Given the description of an element on the screen output the (x, y) to click on. 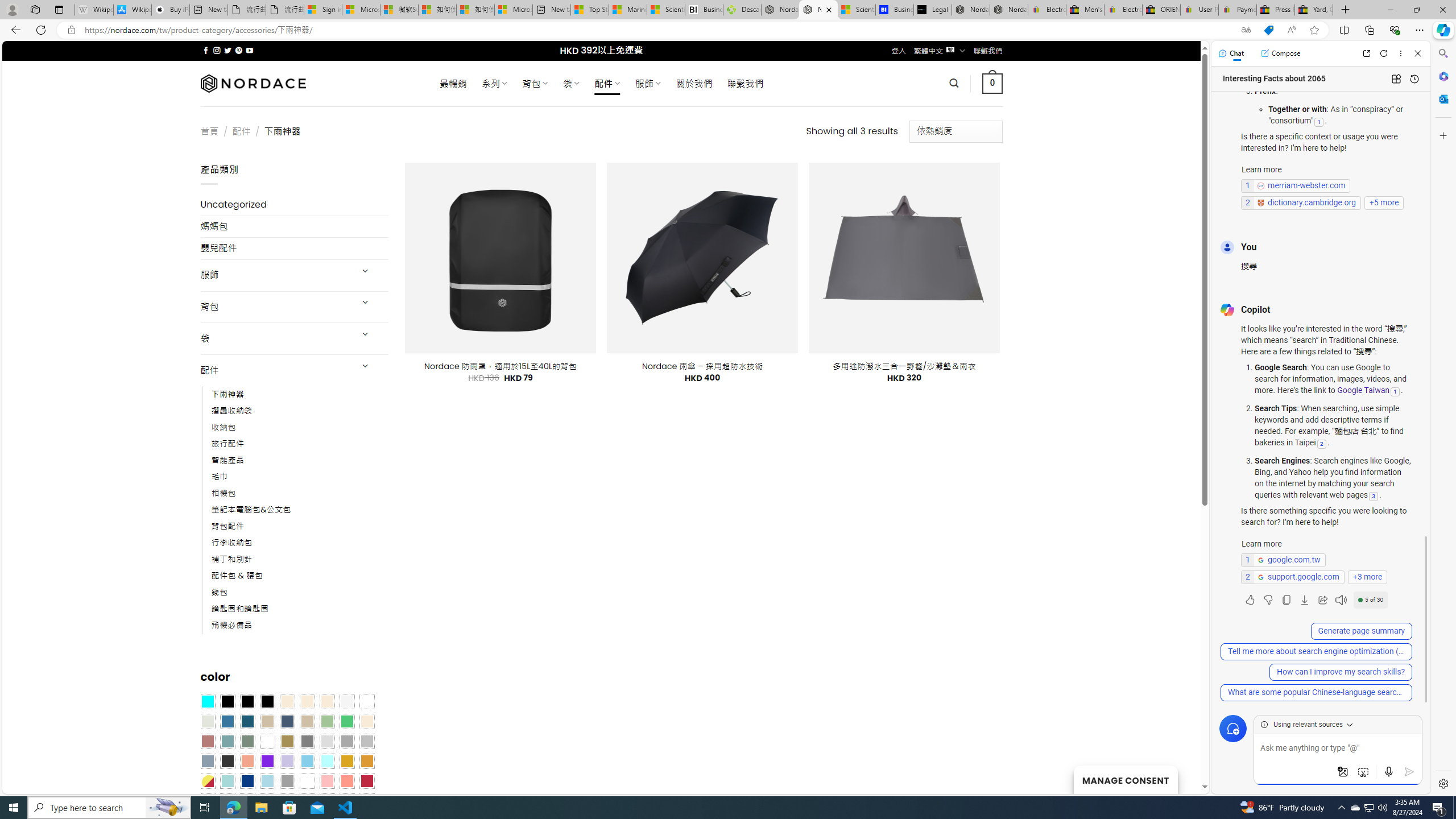
Uncategorized (294, 204)
Buy iPad - Apple (171, 9)
Follow on Facebook (205, 50)
